Given the description of an element on the screen output the (x, y) to click on. 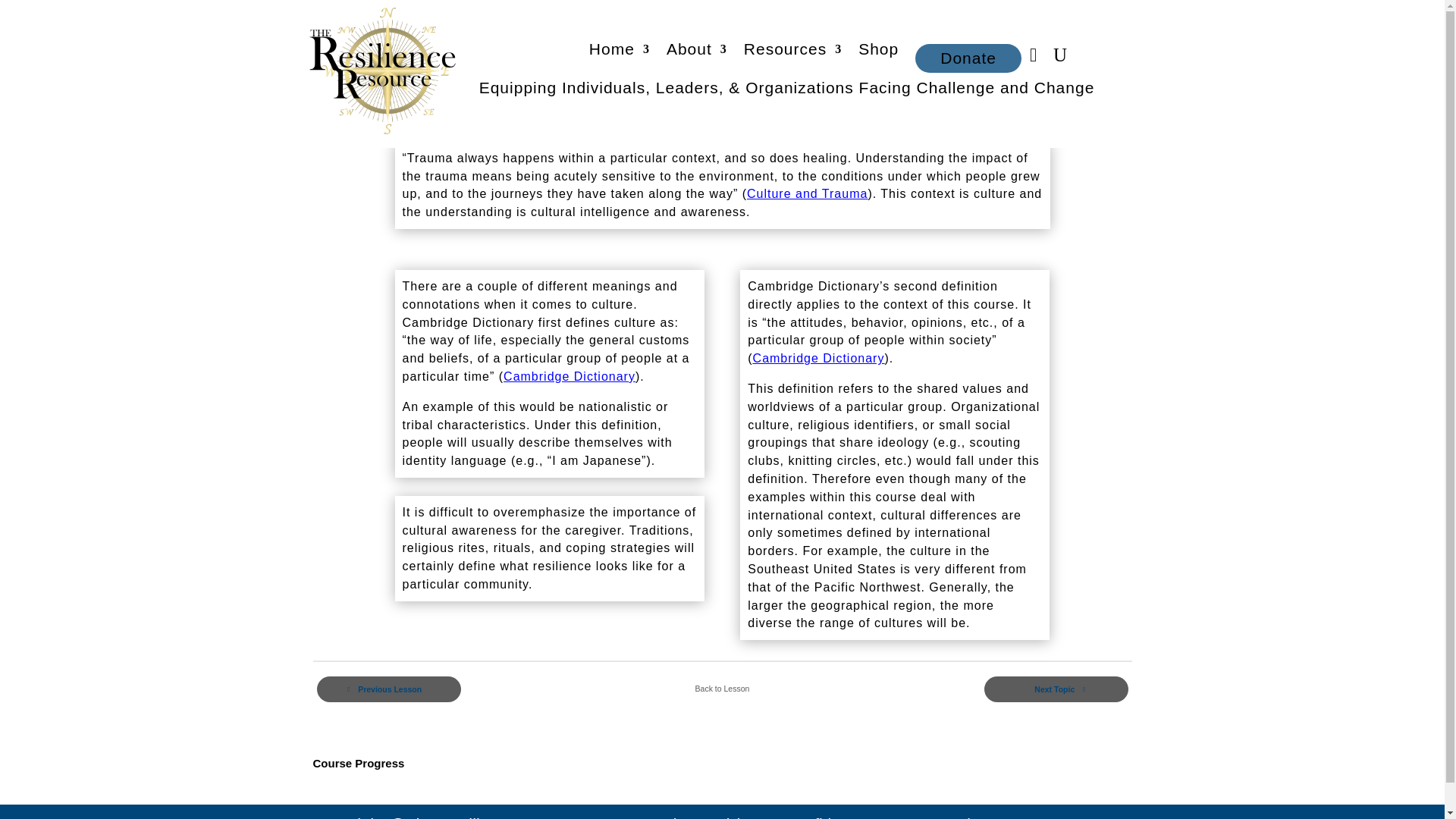
Cambridge Dictionary (818, 358)
Shop (878, 52)
Previous Lesson (389, 688)
Home (619, 52)
Resources (792, 52)
Back to Lesson (721, 689)
About (696, 52)
Cambridge Dictionary (568, 376)
The-Resilience-Resource-Web-Logo (384, 70)
Defining Cultural Awareness (586, 105)
